Given the description of an element on the screen output the (x, y) to click on. 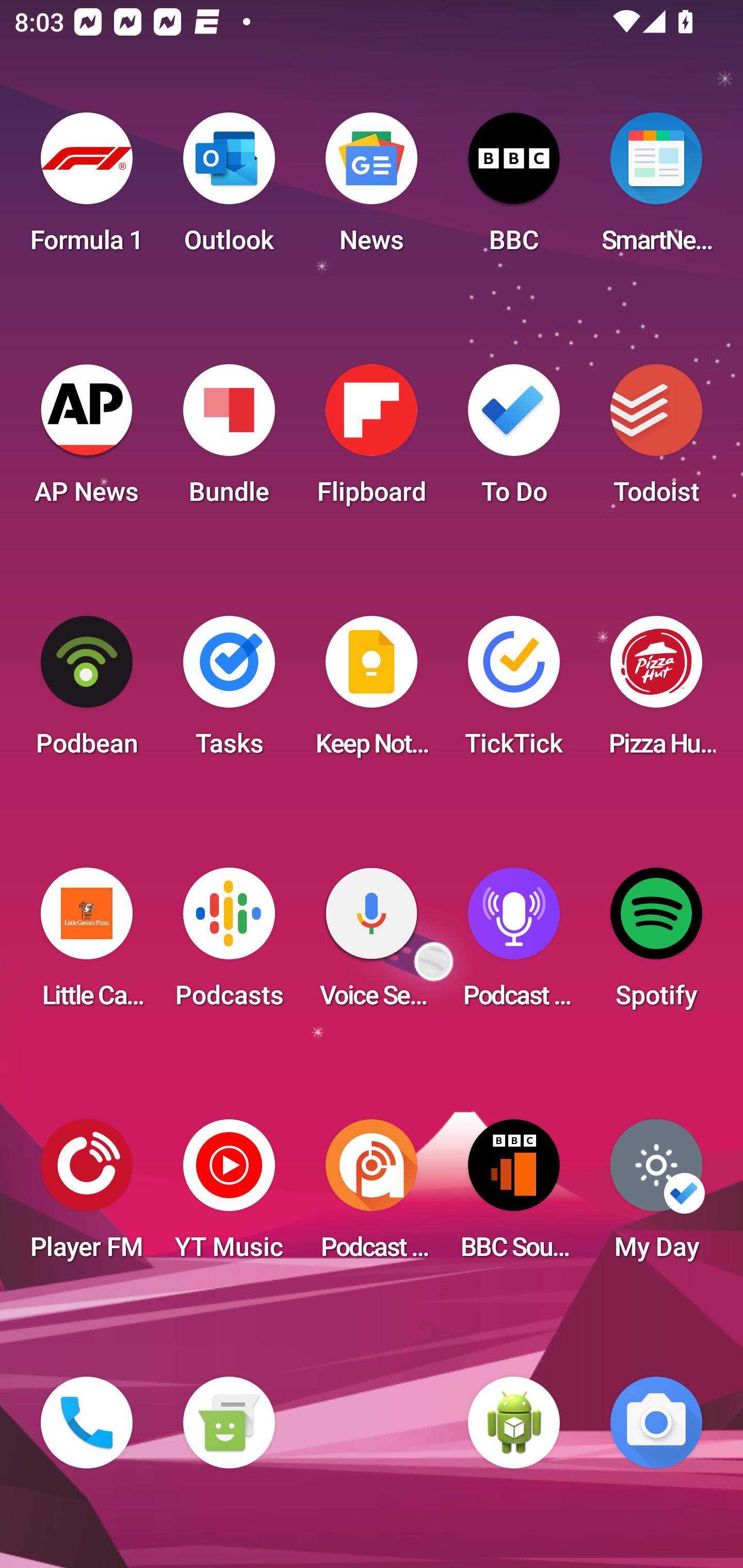
Formula 1 (86, 188)
Outlook (228, 188)
News (371, 188)
BBC (513, 188)
SmartNews (656, 188)
AP News (86, 440)
Bundle (228, 440)
Flipboard (371, 440)
To Do (513, 440)
Todoist (656, 440)
Podbean (86, 692)
Tasks (228, 692)
Keep Notes (371, 692)
TickTick (513, 692)
Pizza Hut HK & Macau (656, 692)
Little Caesars Pizza (86, 943)
Podcasts (228, 943)
Voice Search (371, 943)
Podcast Player (513, 943)
Spotify (656, 943)
Player FM (86, 1195)
YT Music (228, 1195)
Podcast Addict (371, 1195)
BBC Sounds (513, 1195)
My Day (656, 1195)
Phone (86, 1422)
Messaging (228, 1422)
WebView Browser Tester (513, 1422)
Camera (656, 1422)
